Given the description of an element on the screen output the (x, y) to click on. 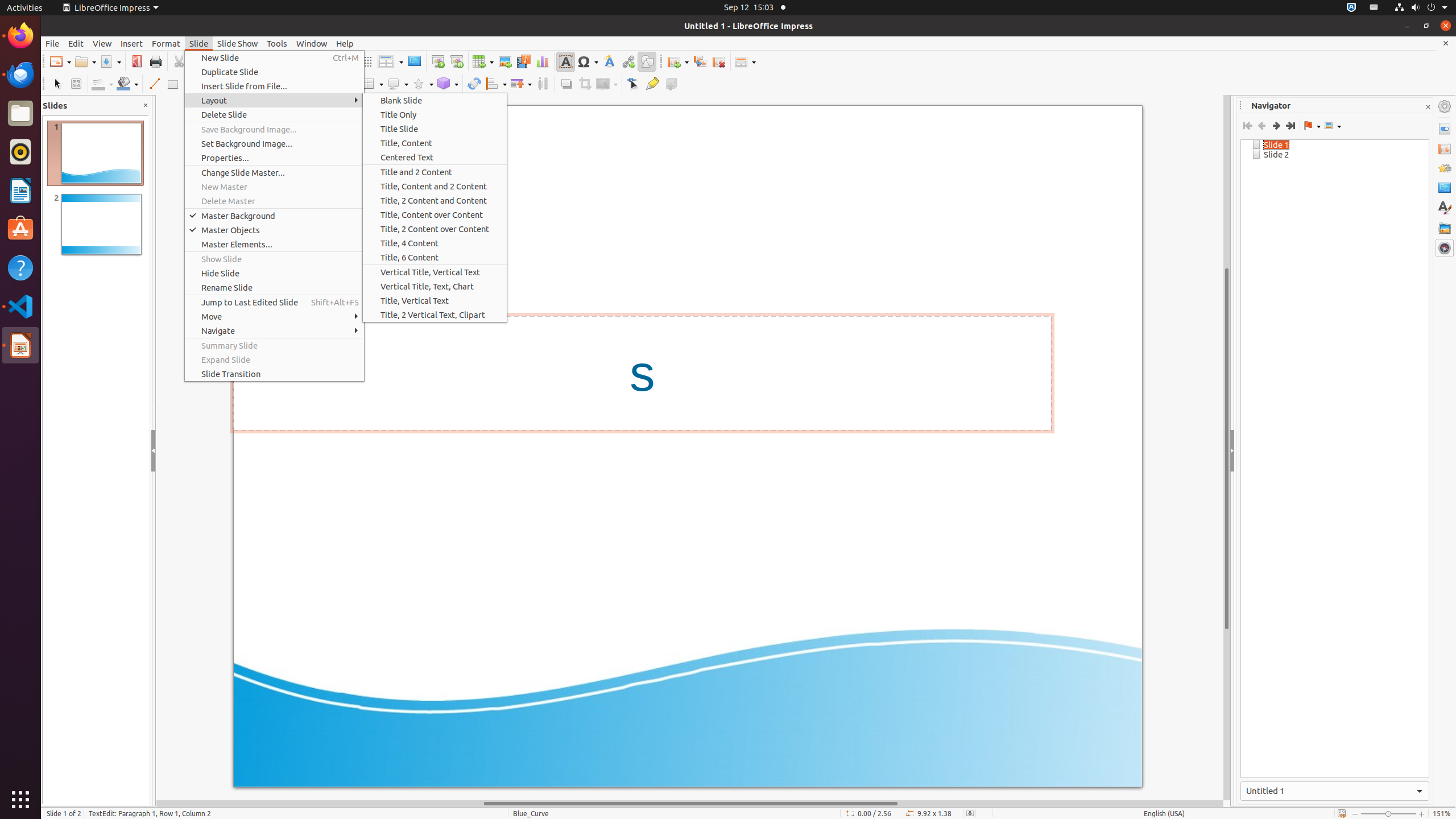
Select Element type: push-button (56, 83)
New Slide Element type: menu-item (274, 57)
Title, 4 Content Element type: menu-item (434, 243)
Drag Mode Element type: push-button (1311, 125)
